Given the description of an element on the screen output the (x, y) to click on. 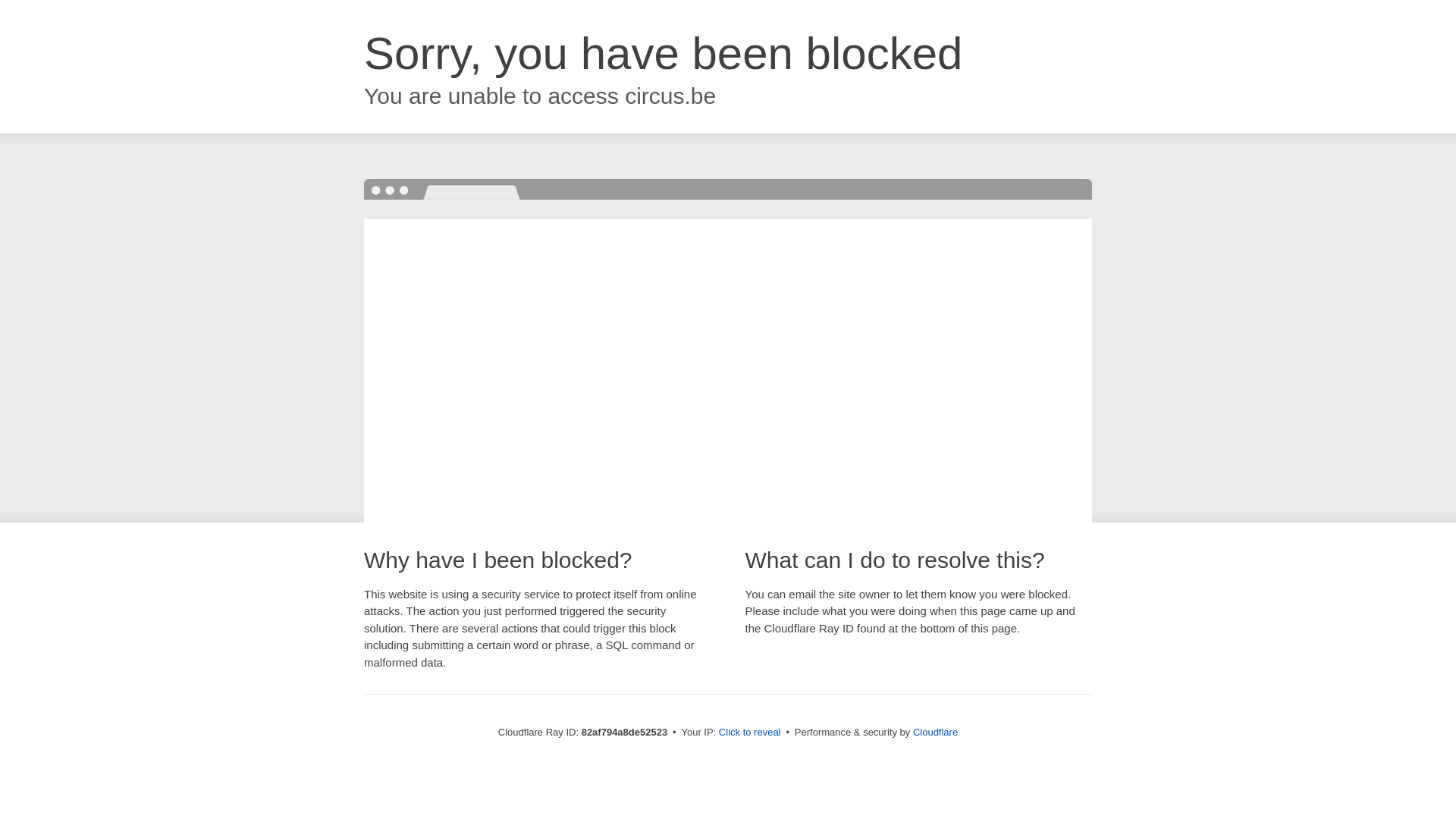
Click to reveal Element type: text (749, 732)
Cloudflare Element type: text (935, 731)
